Given the description of an element on the screen output the (x, y) to click on. 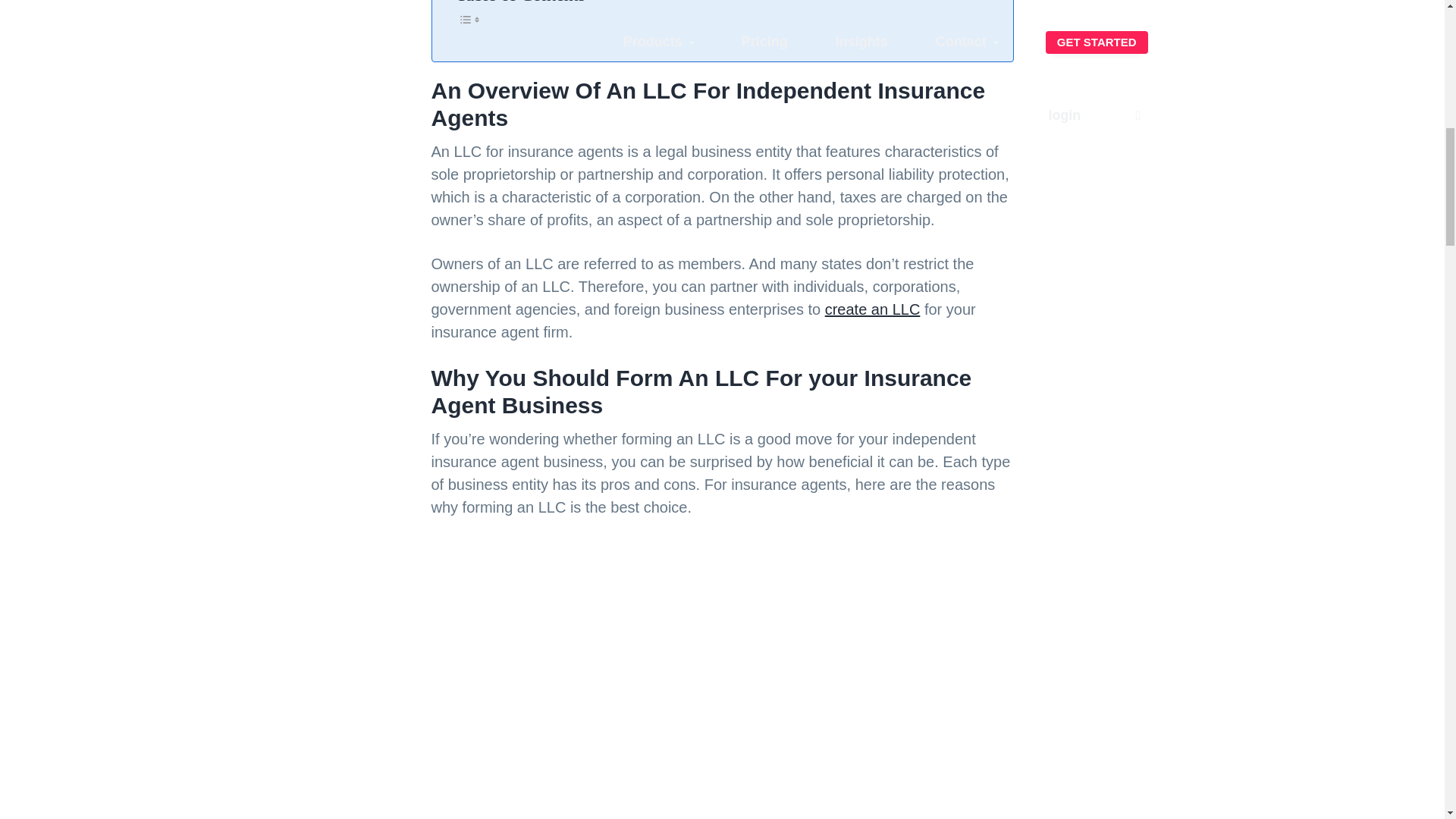
create an LLC (872, 309)
